Given the description of an element on the screen output the (x, y) to click on. 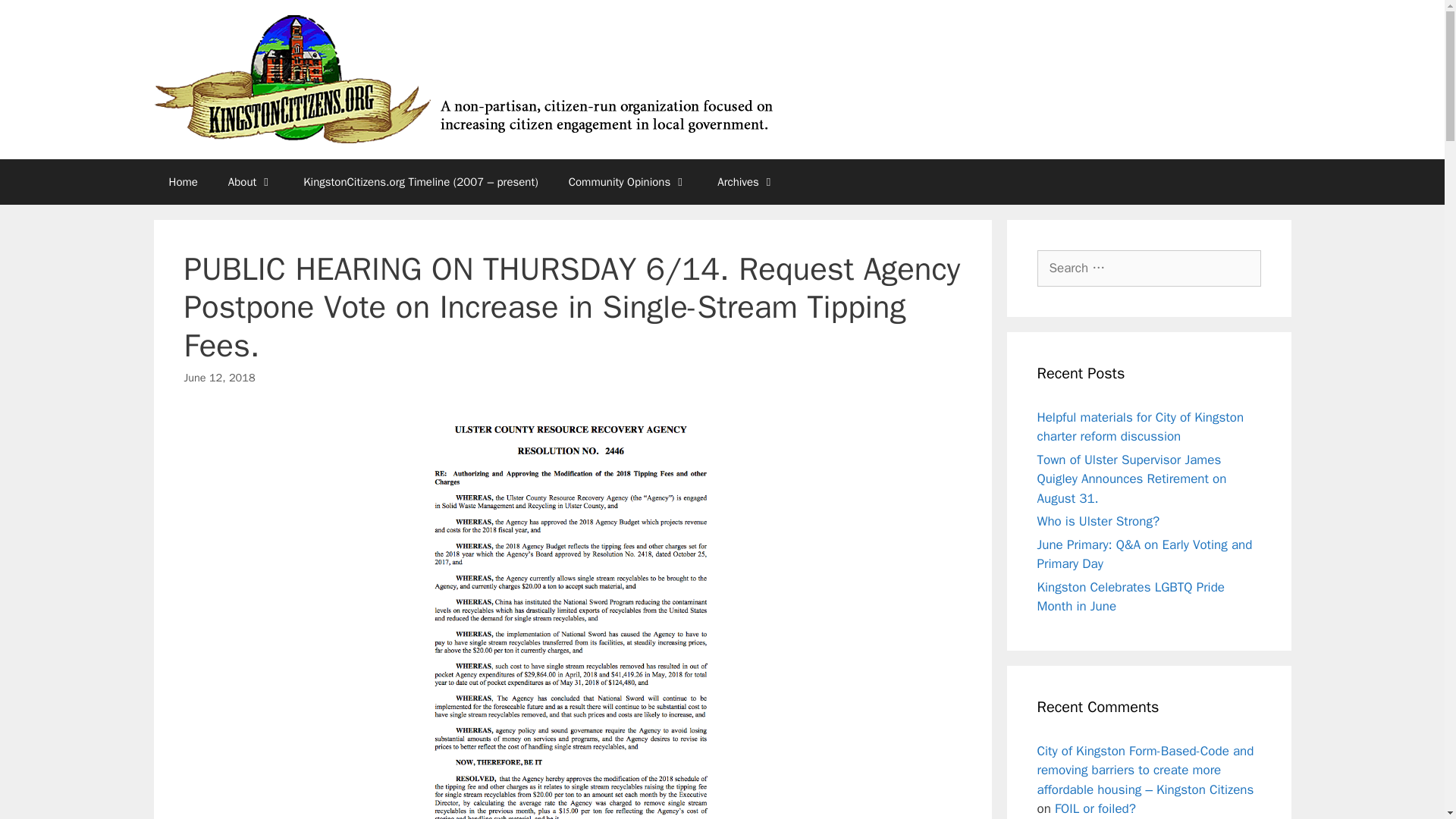
Community Opinions (628, 181)
About (250, 181)
Search for: (1148, 268)
Home (182, 181)
